Given the description of an element on the screen output the (x, y) to click on. 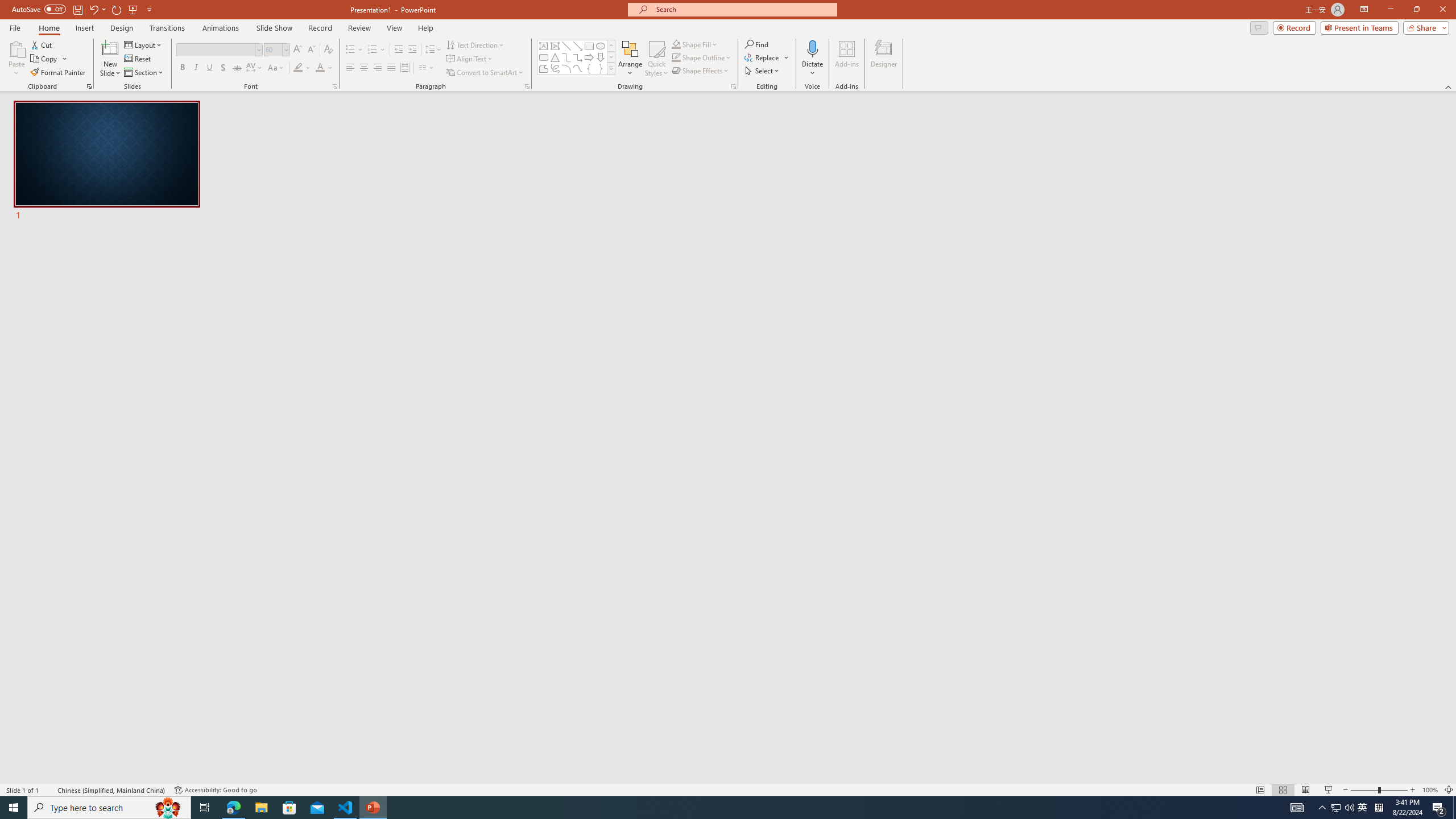
Shape Outline Blue, Accent 1 (675, 56)
Shape Effects (700, 69)
Accessibility Checker Accessibility: Good to go (216, 790)
